Given the description of an element on the screen output the (x, y) to click on. 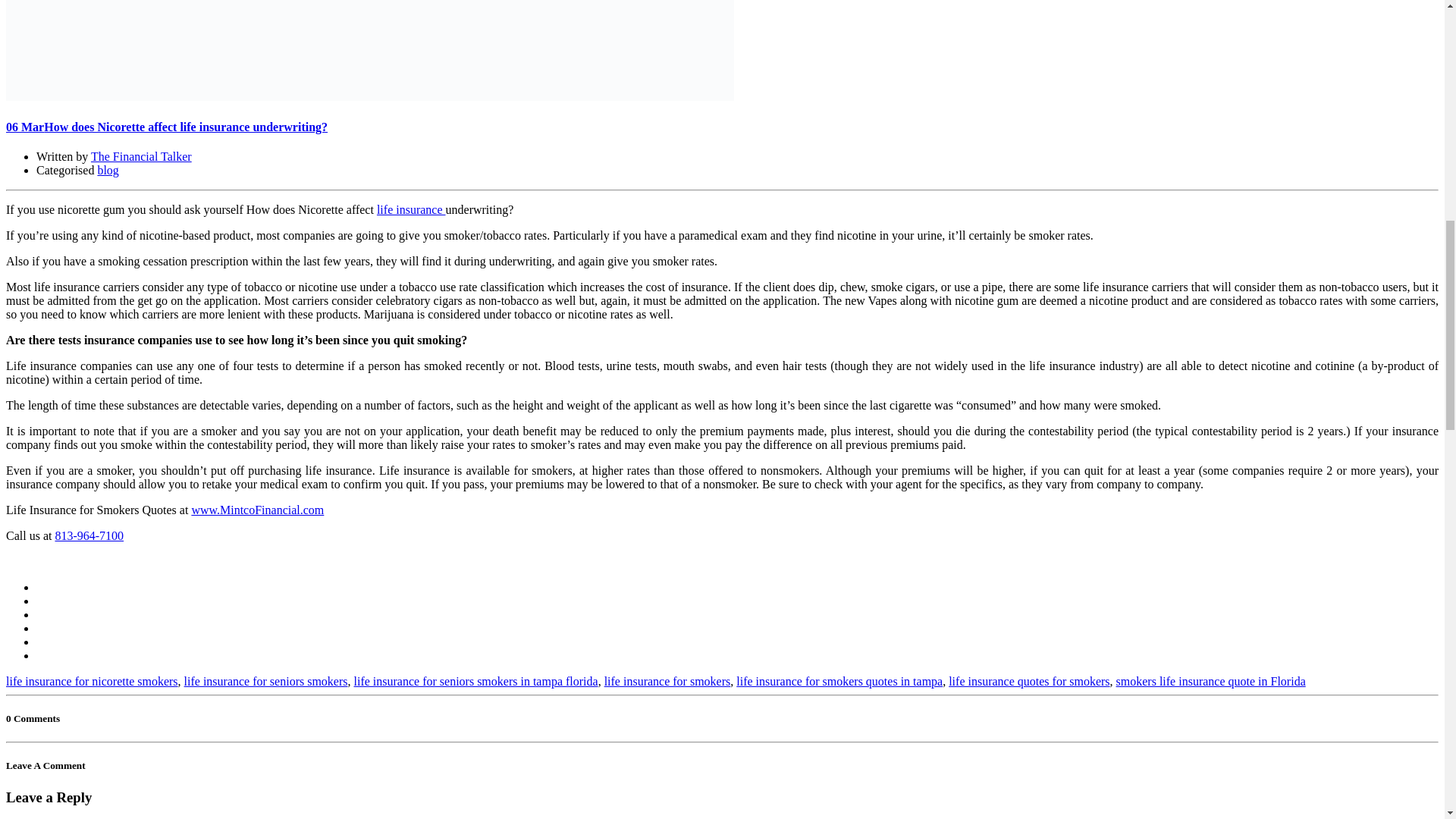
The Financial Talker (141, 155)
blog (107, 169)
life insurance (411, 209)
Posts by The Financial Talker (141, 155)
life insurance for nicorette smokers (91, 680)
www.MintcoFinancial.com (256, 509)
813-964-7100 (89, 535)
